Given the description of an element on the screen output the (x, y) to click on. 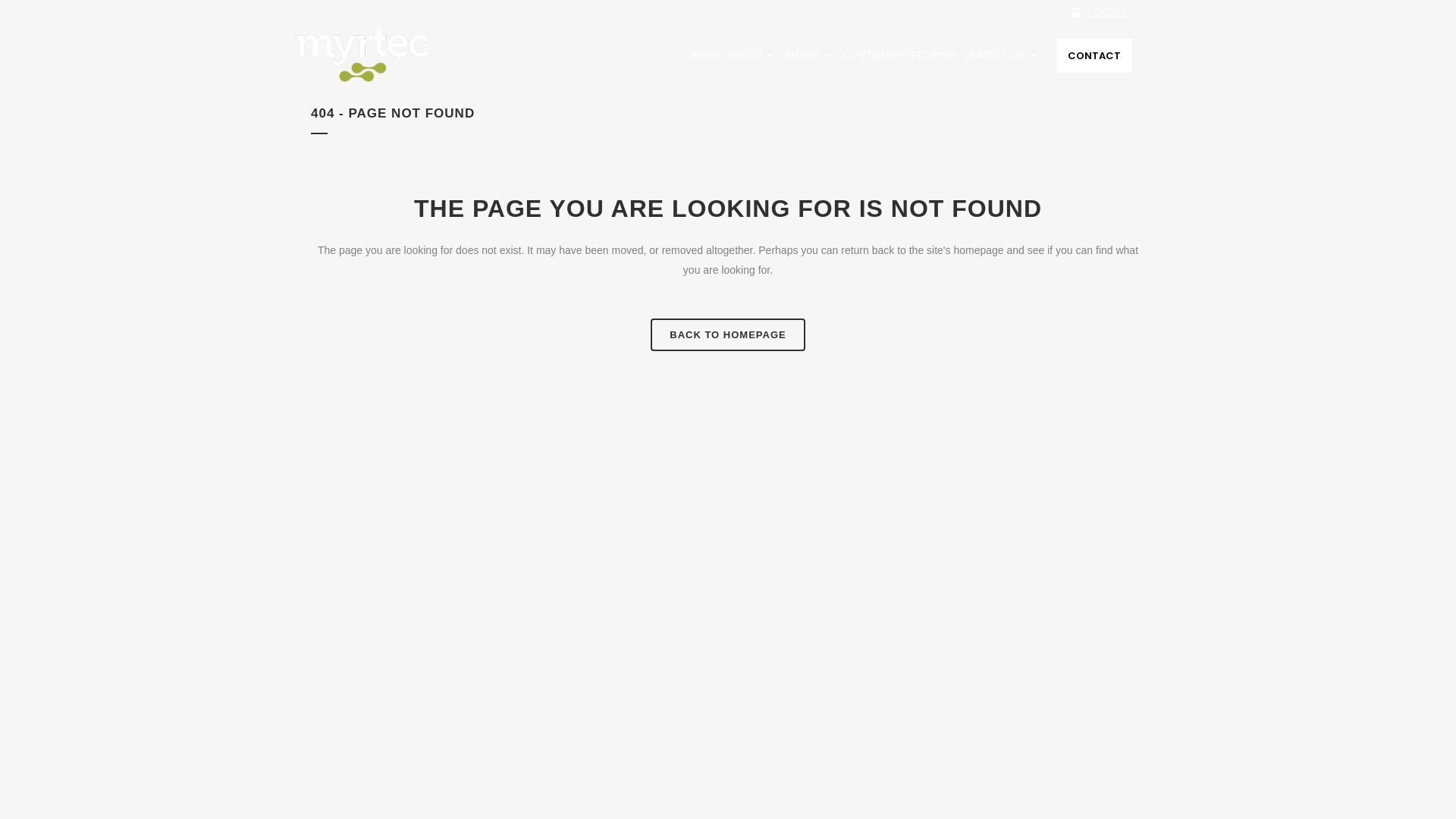
BACK TO HOMEPAGE Element type: text (727, 334)
CONTACT Element type: text (1094, 54)
LOG IN Element type: text (1107, 11)
MORE Element type: text (808, 55)
ABOUT US Element type: text (1003, 55)
WHAT WE DO Element type: text (732, 55)
CUSTOMER STORIES Element type: text (900, 55)
